Given the description of an element on the screen output the (x, y) to click on. 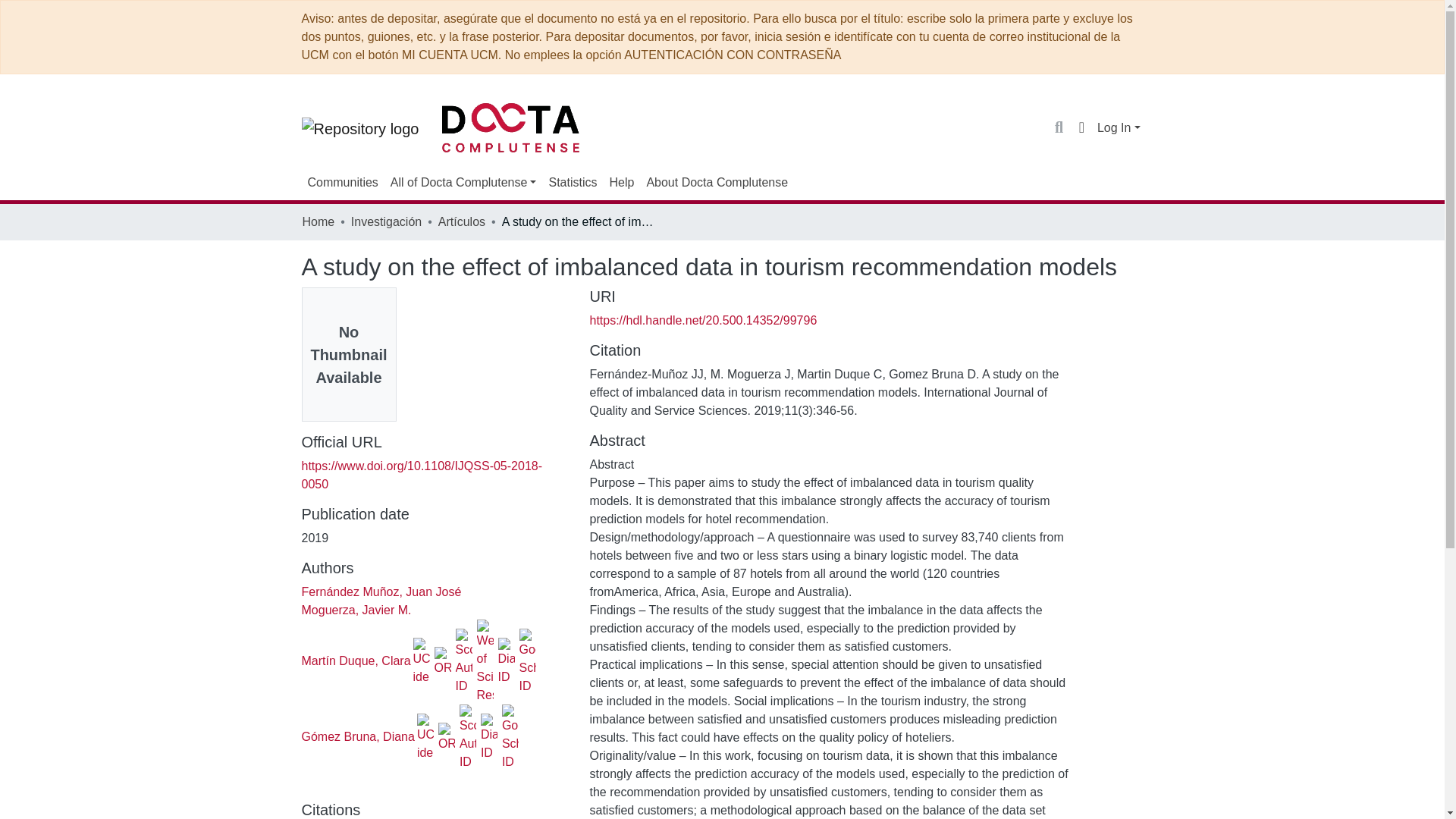
Help (621, 182)
Search (1058, 127)
Statistics (571, 182)
About Docta Complutense (716, 182)
Moguerza, Javier M. (356, 609)
All of Docta Complutense (463, 182)
Communities (342, 182)
Home (317, 221)
Statistics (571, 182)
About Docta Complutense (716, 182)
Log In (1118, 127)
Communities (342, 182)
Language switch (1081, 127)
Help (621, 182)
